Given the description of an element on the screen output the (x, y) to click on. 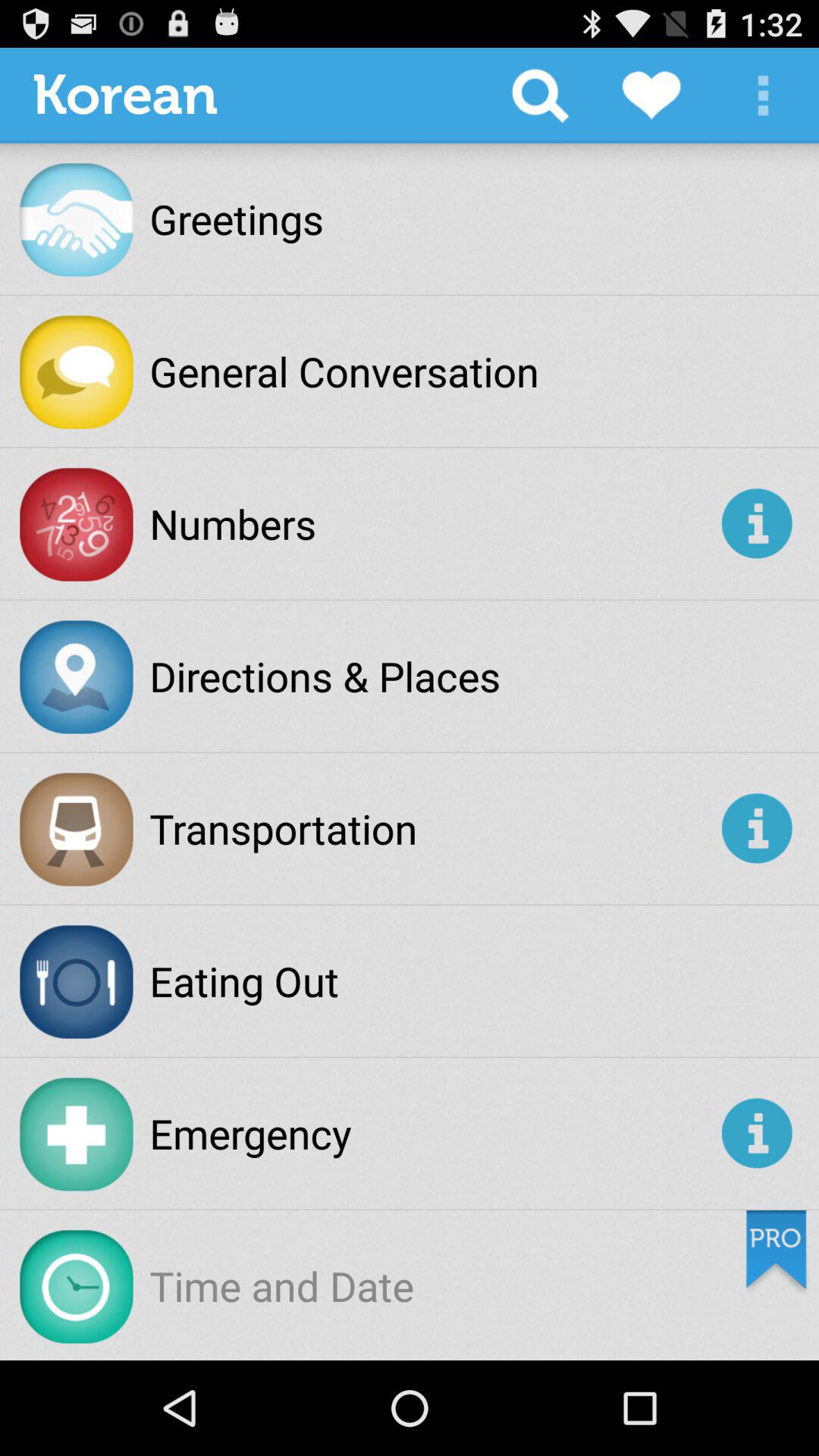
swipe until the time and date app (281, 1285)
